Given the description of an element on the screen output the (x, y) to click on. 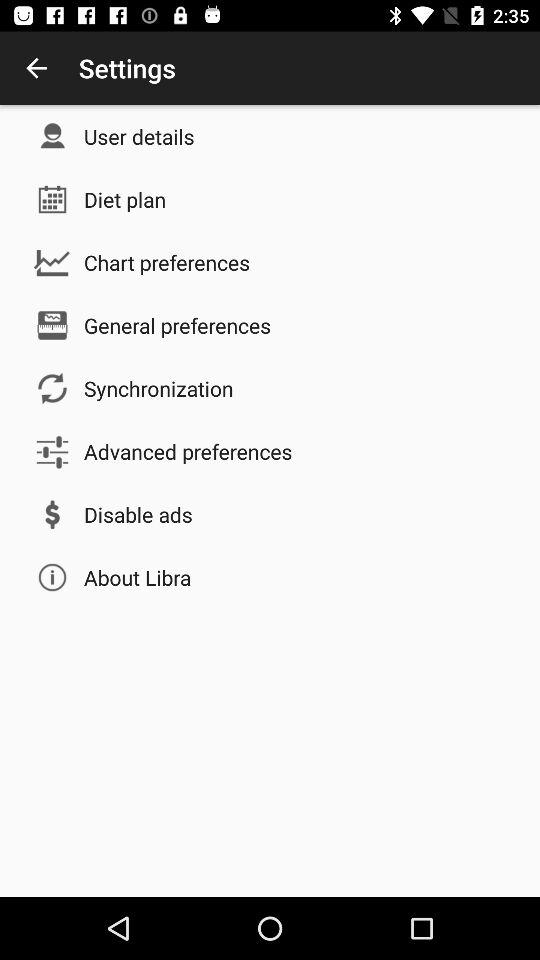
tap item above chart preferences (125, 199)
